Given the description of an element on the screen output the (x, y) to click on. 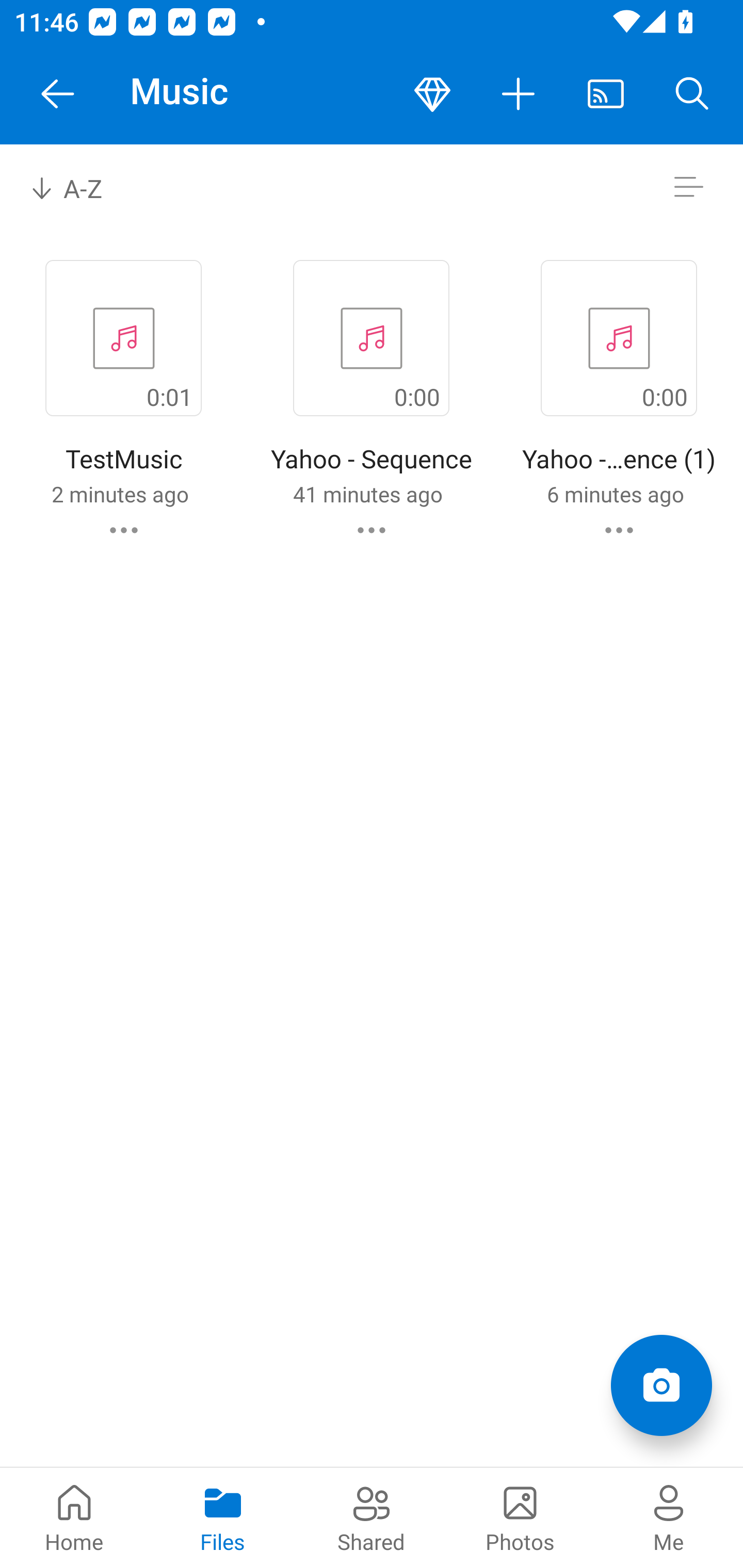
Navigate Up (57, 93)
Cast. Disconnected (605, 93)
Premium button (432, 93)
More actions button (518, 93)
Search button (692, 93)
A-Z Sort by combo box, sort by name, A to Z (80, 187)
Switch to list view (688, 187)
2 minutes ago (119, 493)
41 minutes ago (367, 493)
6 minutes ago (615, 493)
TestMusic commands (123, 529)
Yahoo - Sequence commands (371, 529)
Yahoo - Sequence (1) commands (618, 529)
Add items Scan (660, 1385)
Home pivot Home (74, 1517)
Shared pivot Shared (371, 1517)
Photos pivot Photos (519, 1517)
Me pivot Me (668, 1517)
